Given the description of an element on the screen output the (x, y) to click on. 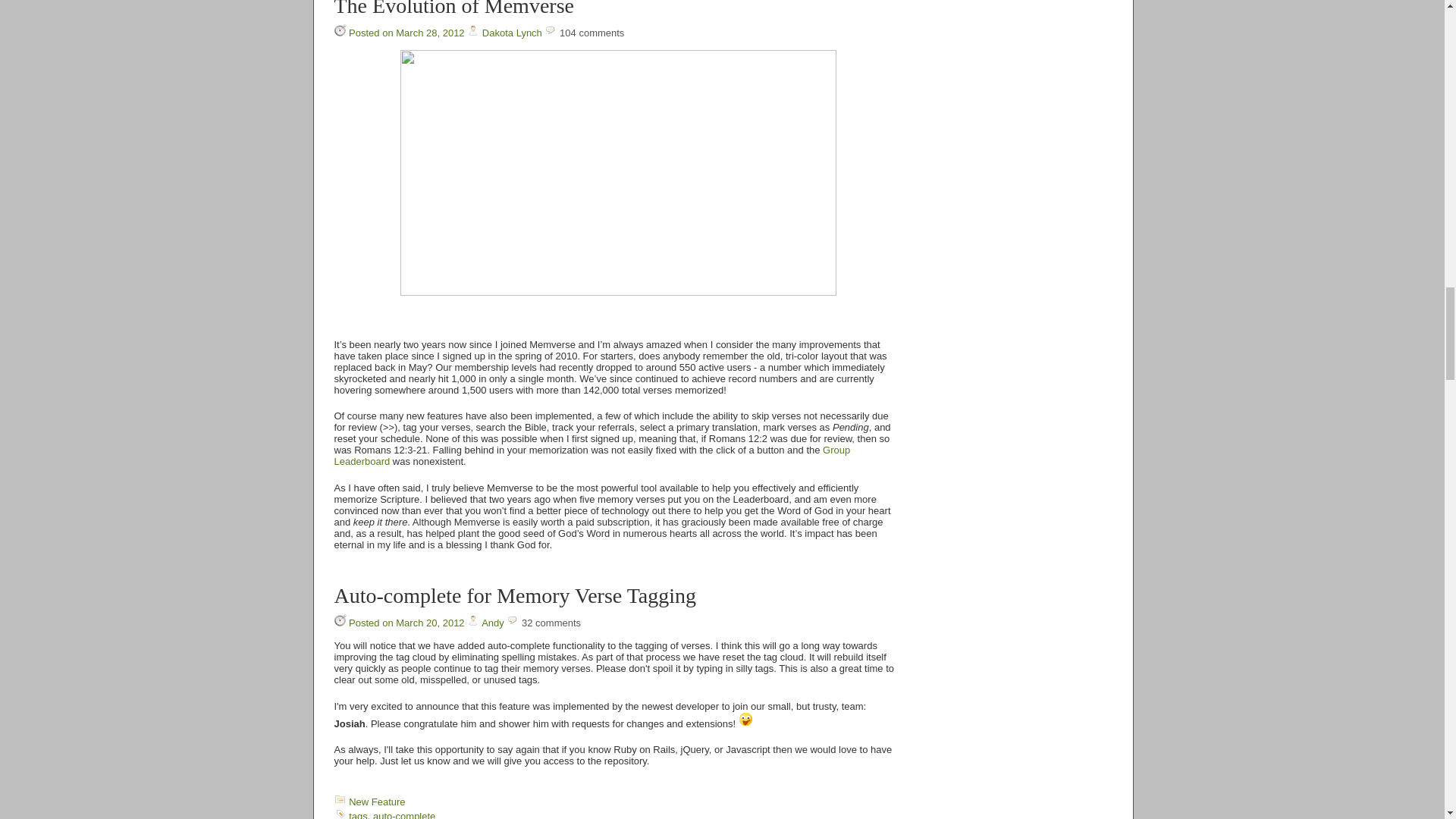
cheeky (746, 718)
